Given the description of an element on the screen output the (x, y) to click on. 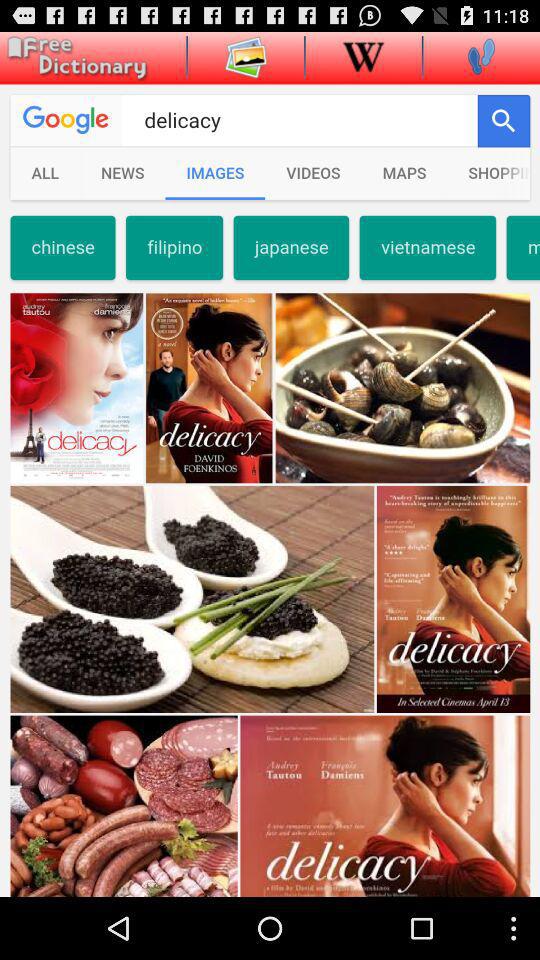
image menu (246, 56)
